Given the description of an element on the screen output the (x, y) to click on. 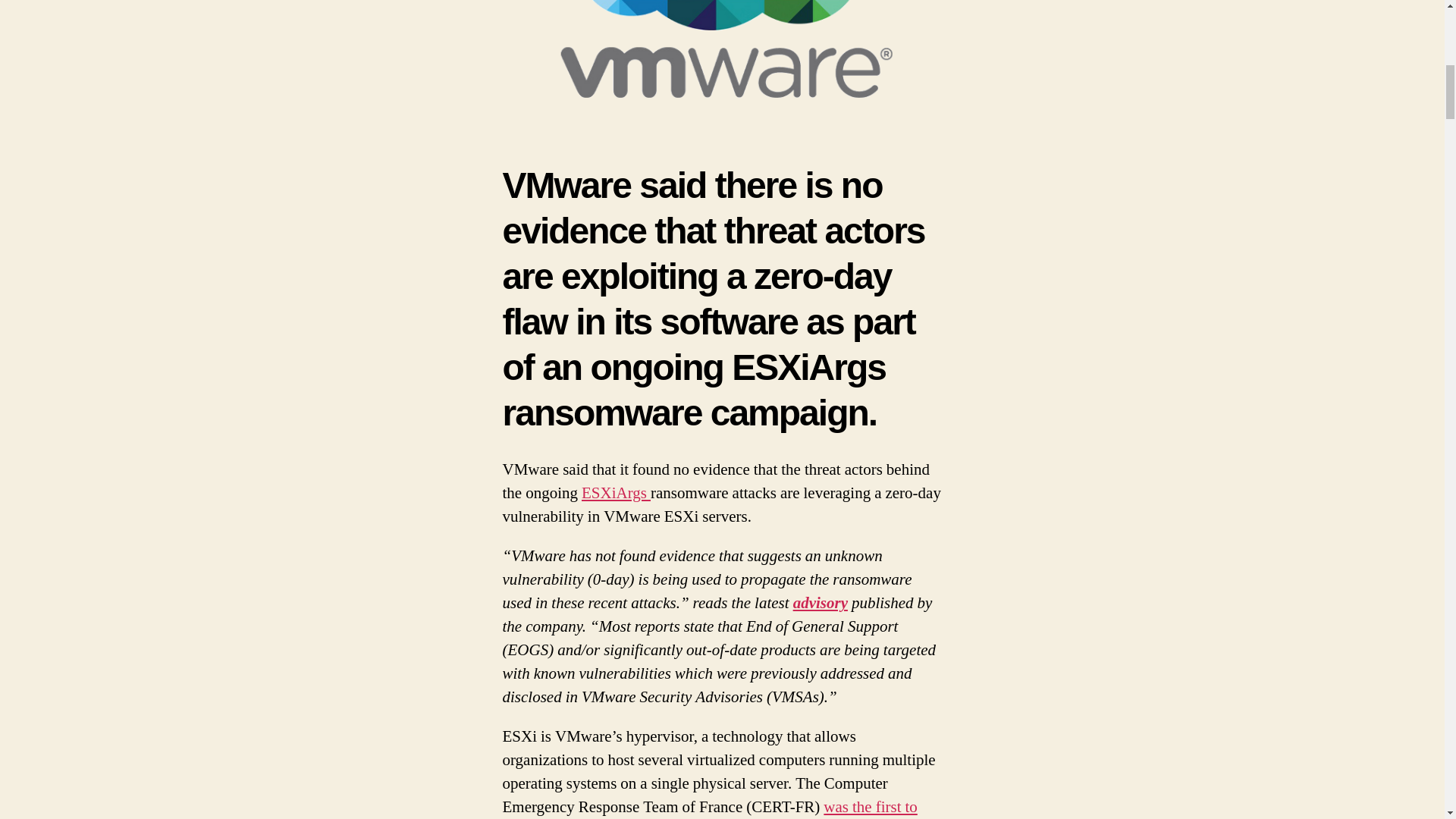
ESXiArgs (615, 493)
advisory (820, 602)
was the first to notice and send an alert about the attack (709, 807)
